Given the description of an element on the screen output the (x, y) to click on. 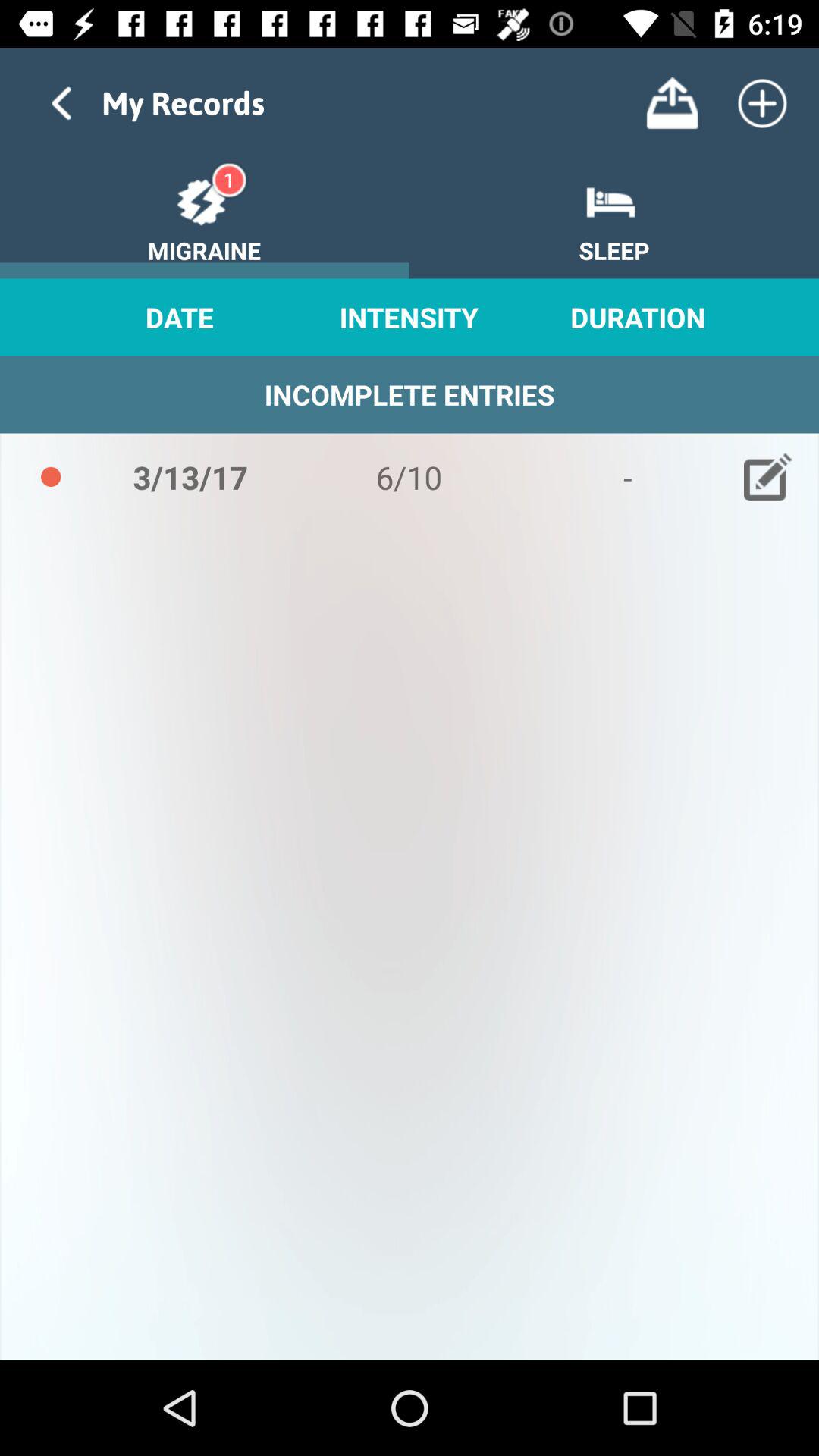
import (672, 103)
